Given the description of an element on the screen output the (x, y) to click on. 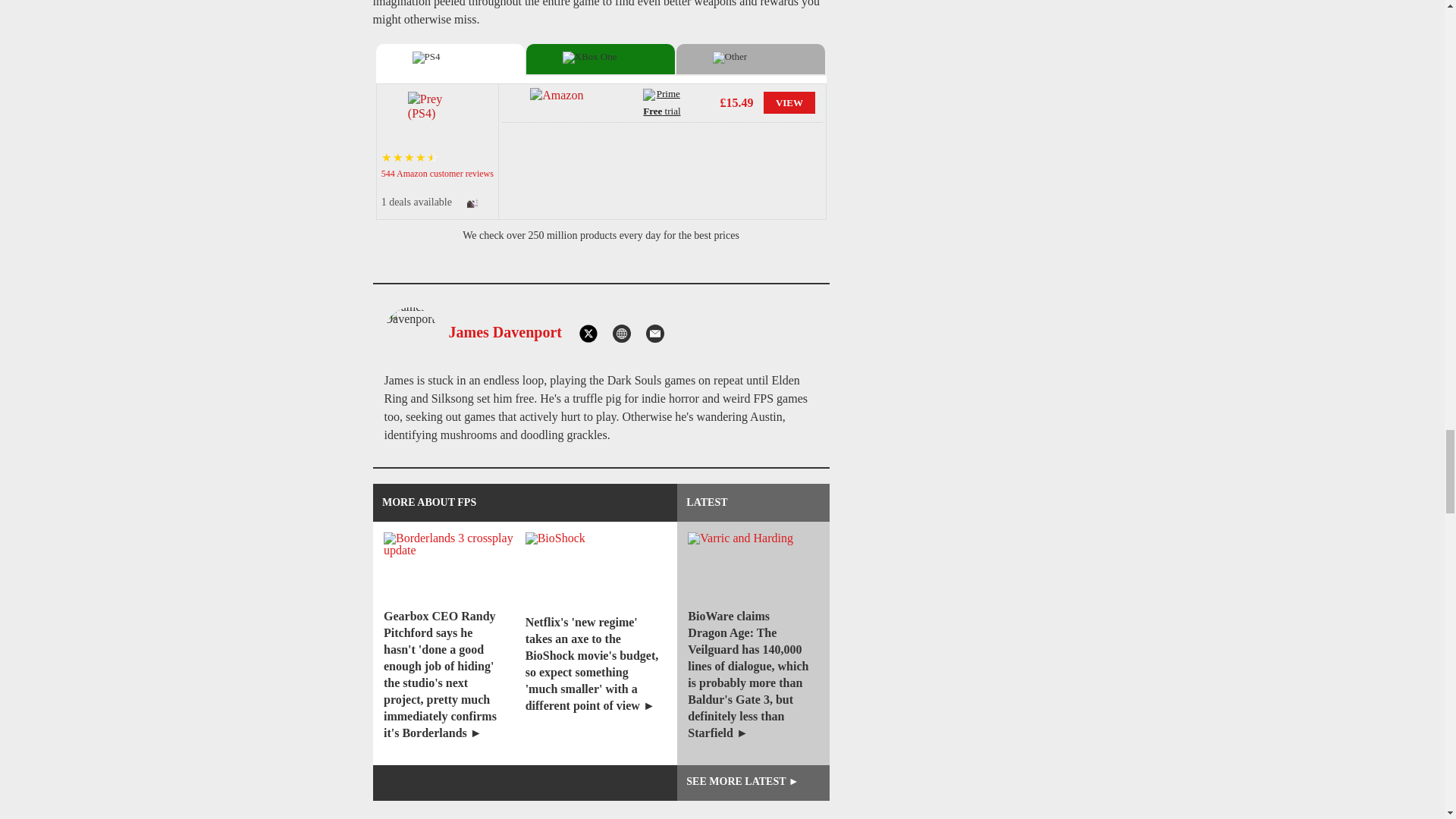
XBox One (600, 58)
PS4 (449, 58)
Arrow (475, 206)
Other (751, 58)
Prime (662, 96)
Amazon (560, 102)
